Given the description of an element on the screen output the (x, y) to click on. 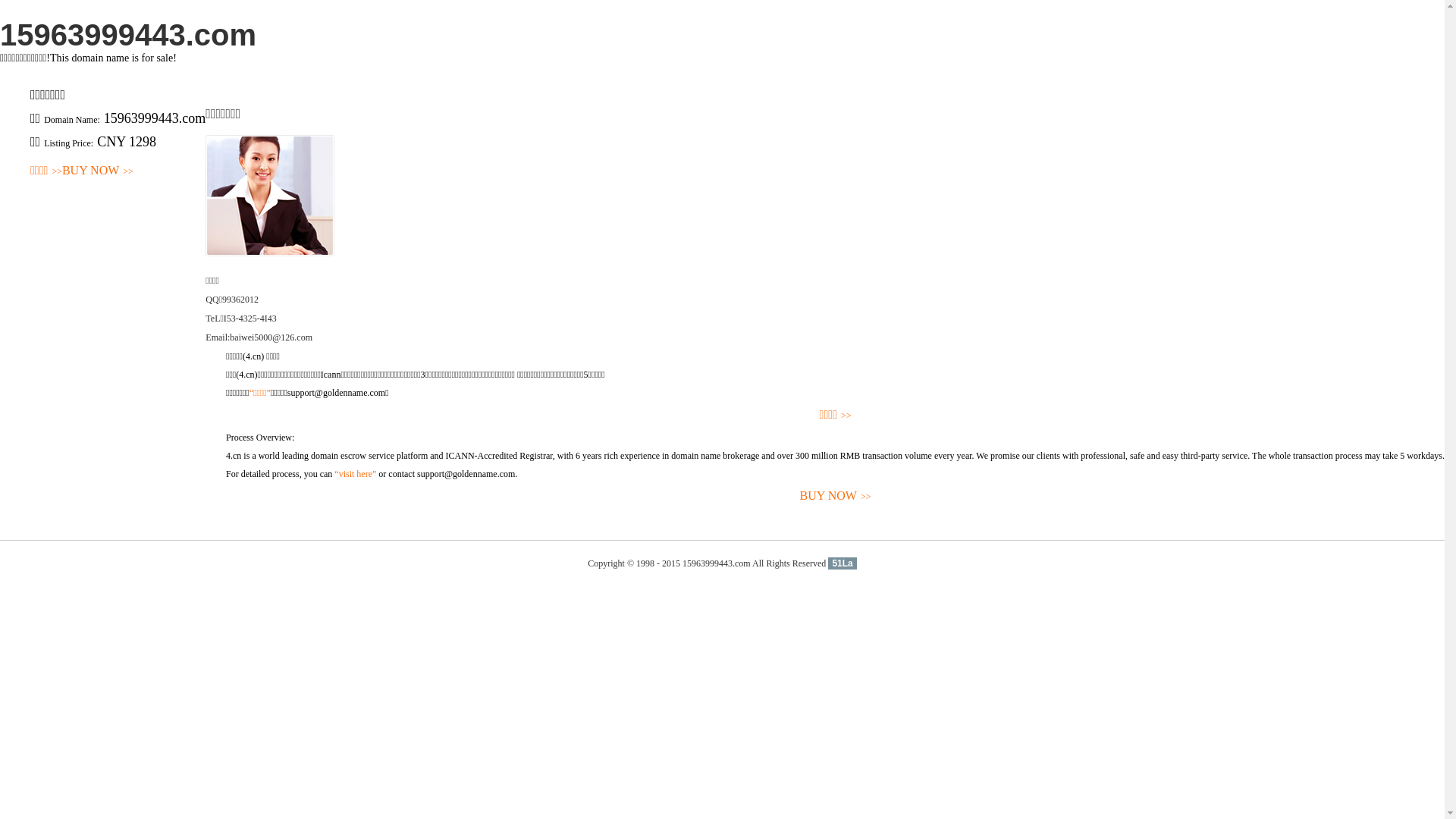
BUY NOW>> Element type: text (834, 496)
51La Element type: text (842, 563)
BUY NOW>> Element type: text (97, 170)
